Given the description of an element on the screen output the (x, y) to click on. 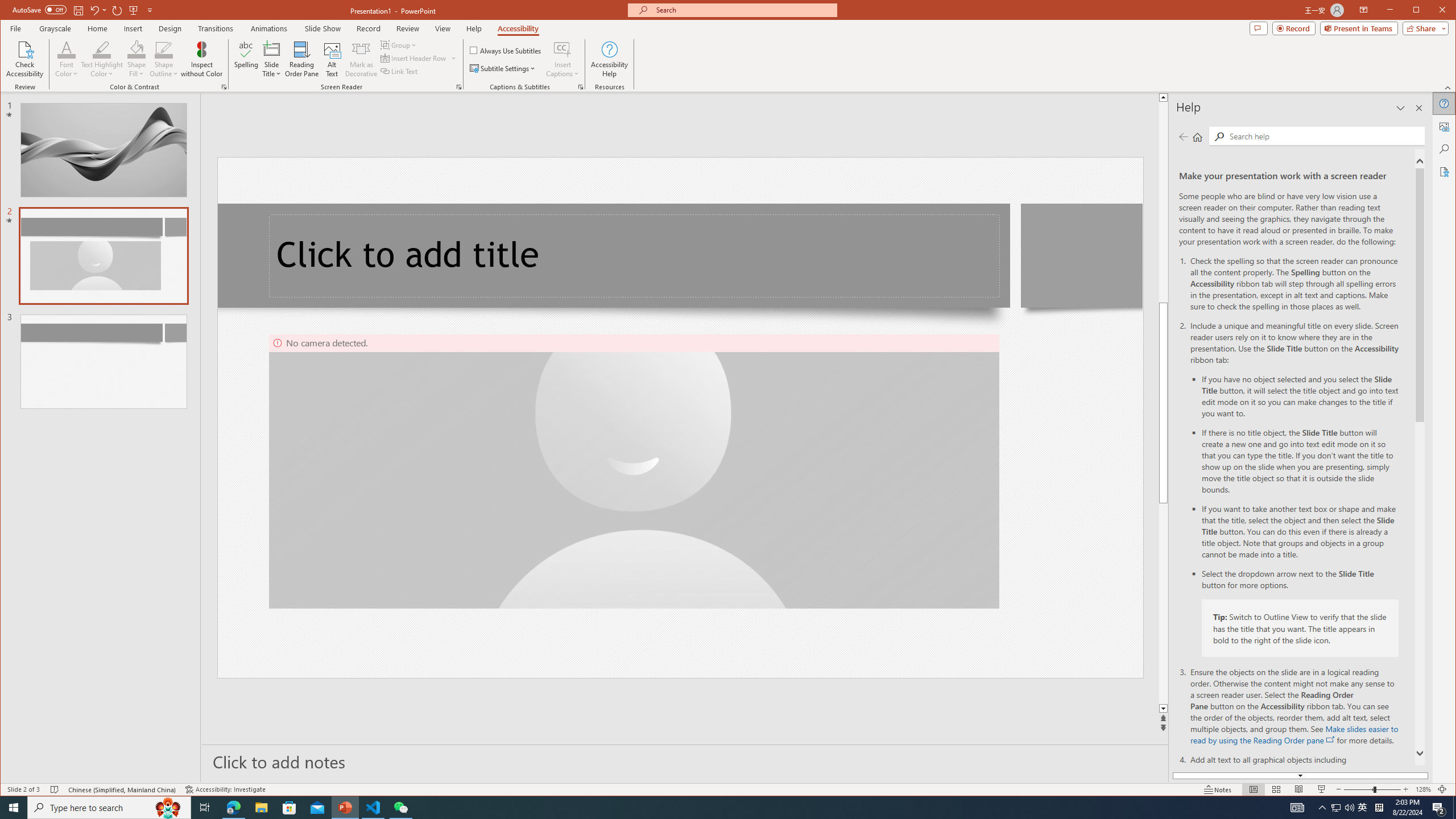
Insert Header Row (418, 57)
Slide Title (271, 48)
Captions & Subtitles (580, 86)
PowerPoint - 1 running window (345, 807)
Slide Notes (685, 761)
